Given the description of an element on the screen output the (x, y) to click on. 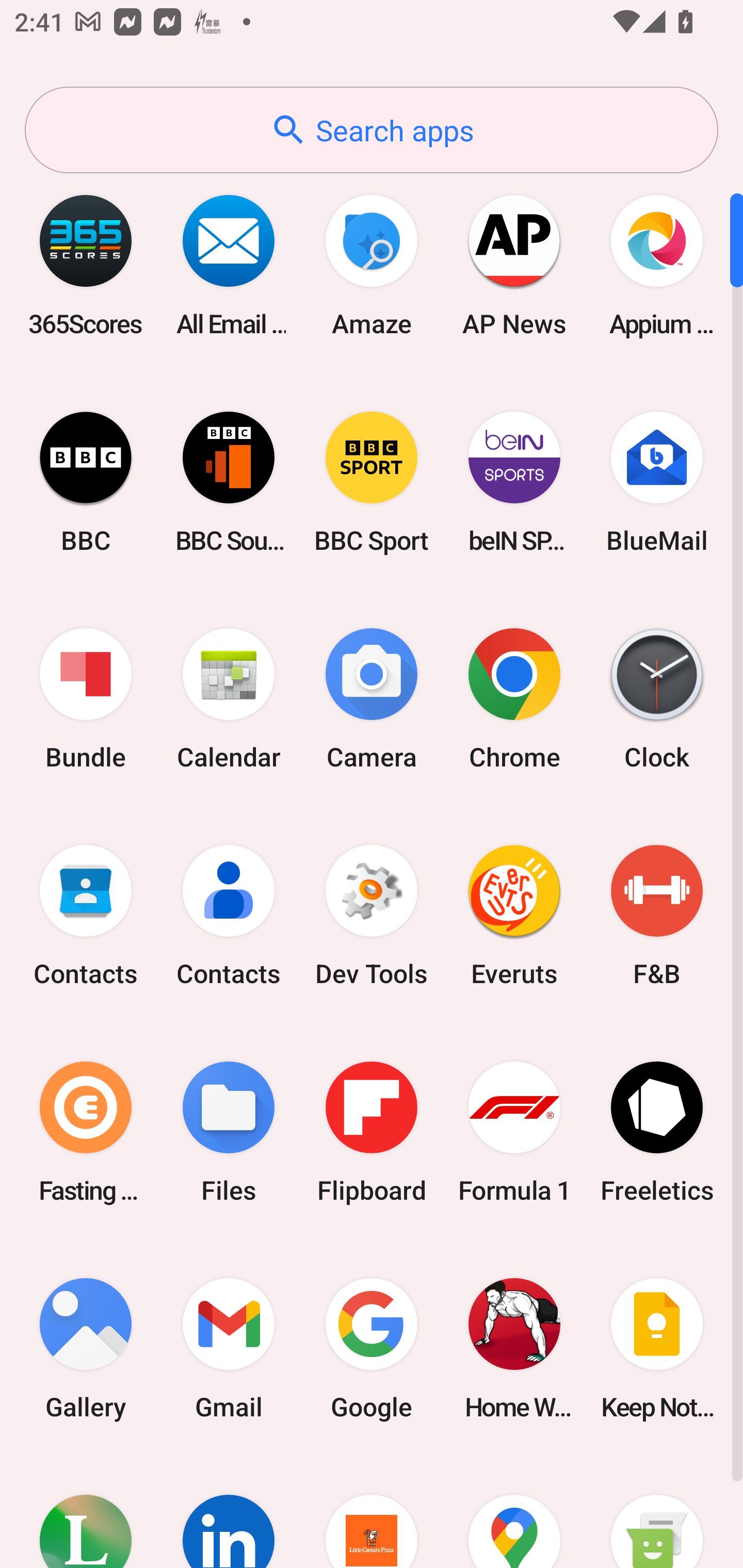
  Search apps (371, 130)
365Scores (85, 264)
All Email Connect (228, 264)
Amaze (371, 264)
AP News (514, 264)
Appium Settings (656, 264)
BBC (85, 482)
BBC Sounds (228, 482)
BBC Sport (371, 482)
beIN SPORTS (514, 482)
BlueMail (656, 482)
Bundle (85, 699)
Calendar (228, 699)
Camera (371, 699)
Chrome (514, 699)
Clock (656, 699)
Contacts (85, 915)
Contacts (228, 915)
Dev Tools (371, 915)
Everuts (514, 915)
F&B (656, 915)
Fasting Coach (85, 1131)
Files (228, 1131)
Flipboard (371, 1131)
Formula 1 (514, 1131)
Freeletics (656, 1131)
Gallery (85, 1348)
Gmail (228, 1348)
Google (371, 1348)
Home Workout (514, 1348)
Keep Notes (656, 1348)
